Given the description of an element on the screen output the (x, y) to click on. 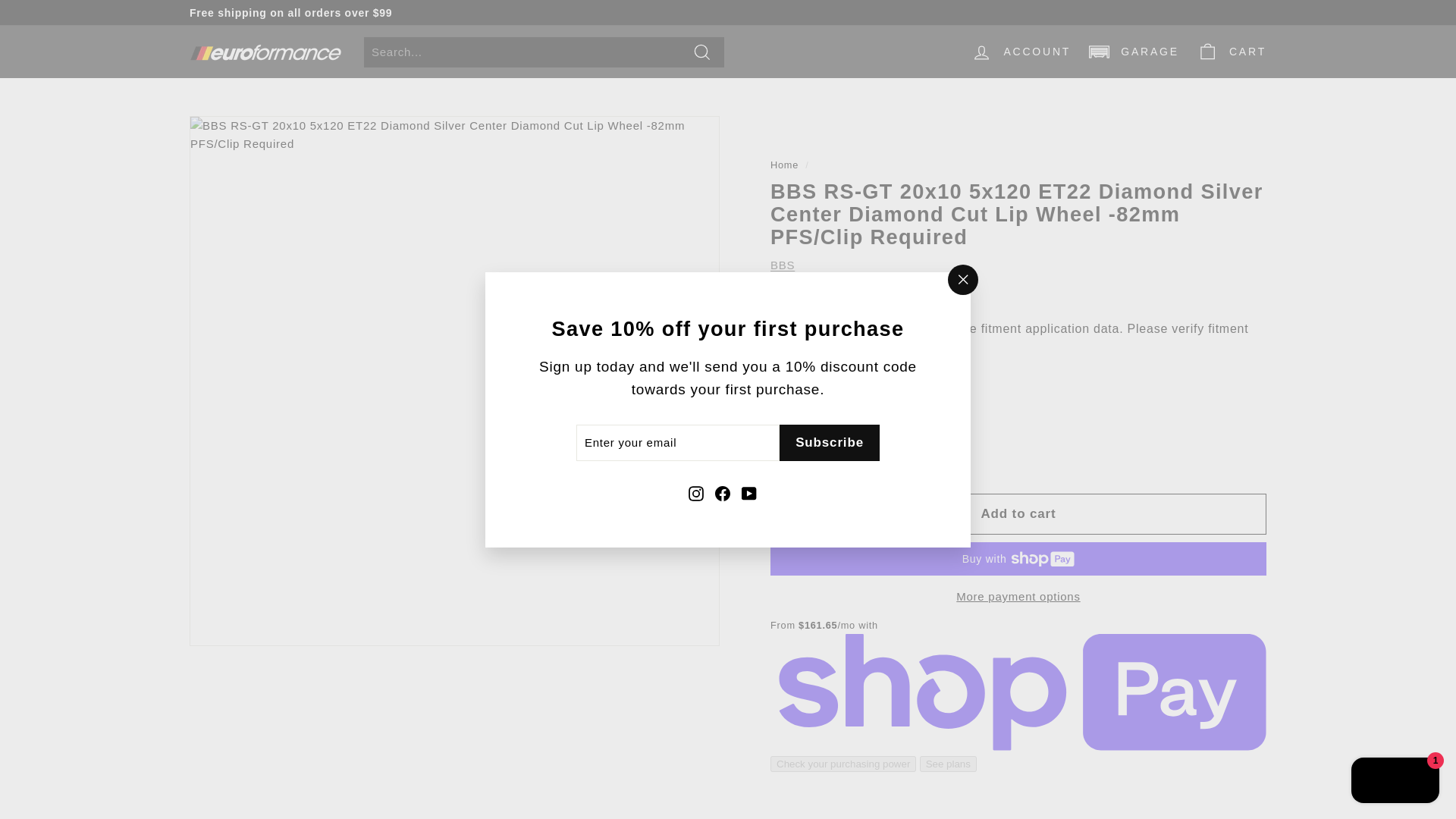
Add to cart (1018, 513)
ACCOUNT (1021, 51)
YouTube (749, 491)
Home (783, 164)
More payment options (1018, 596)
RENNTEILE on Facebook (721, 491)
BBS (782, 264)
Back to the frontpage (783, 164)
Subscribe (828, 442)
Facebook (721, 491)
RENNTEILE on Instagram (695, 491)
RENNTEILE on YouTube (749, 491)
Instagram (695, 491)
Search (701, 51)
BBS (782, 264)
